Given the description of an element on the screen output the (x, y) to click on. 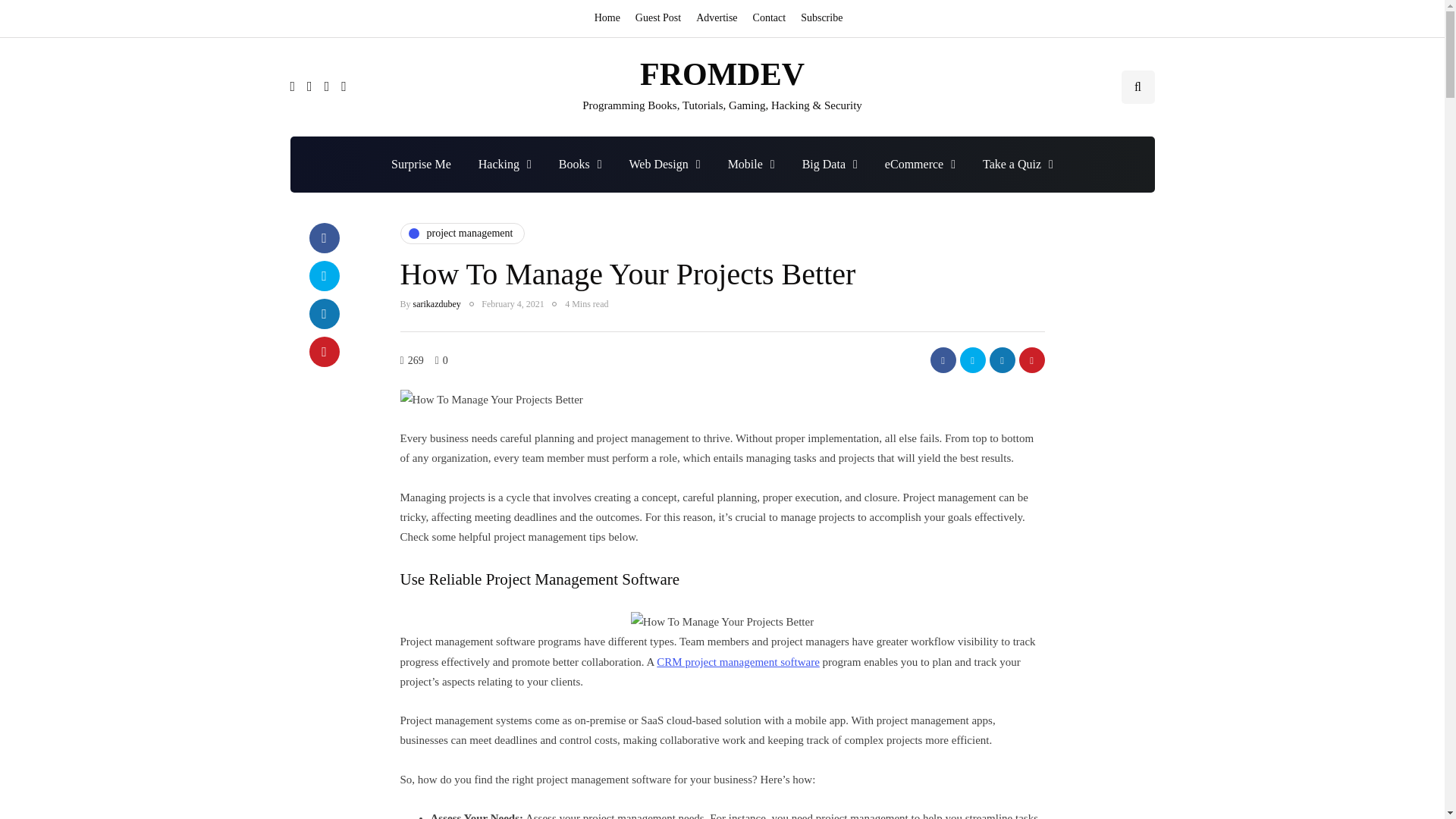
Web Design (664, 163)
Mobile (751, 163)
Hacking (504, 163)
Big Data (829, 163)
Contact (769, 18)
Home (610, 18)
FROMDEV (722, 73)
Advertise (716, 18)
Subscribe (821, 18)
Surprise Me (420, 163)
Guest Post (657, 18)
Books (579, 163)
